Given the description of an element on the screen output the (x, y) to click on. 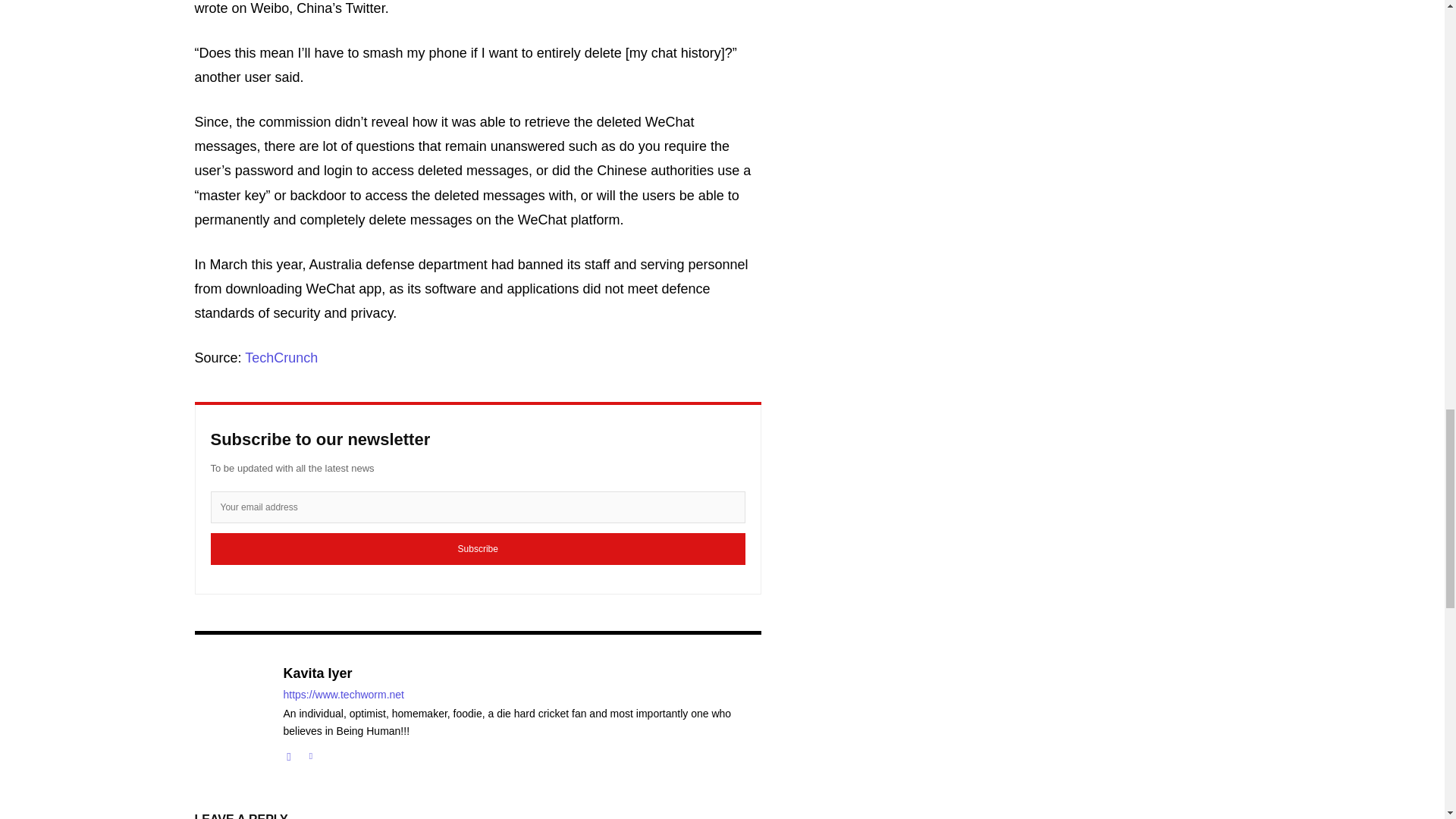
TechCrunch (280, 357)
Kavita Iyer (522, 673)
Subscribe (478, 549)
Twitter (309, 753)
Facebook (289, 753)
